Given the description of an element on the screen output the (x, y) to click on. 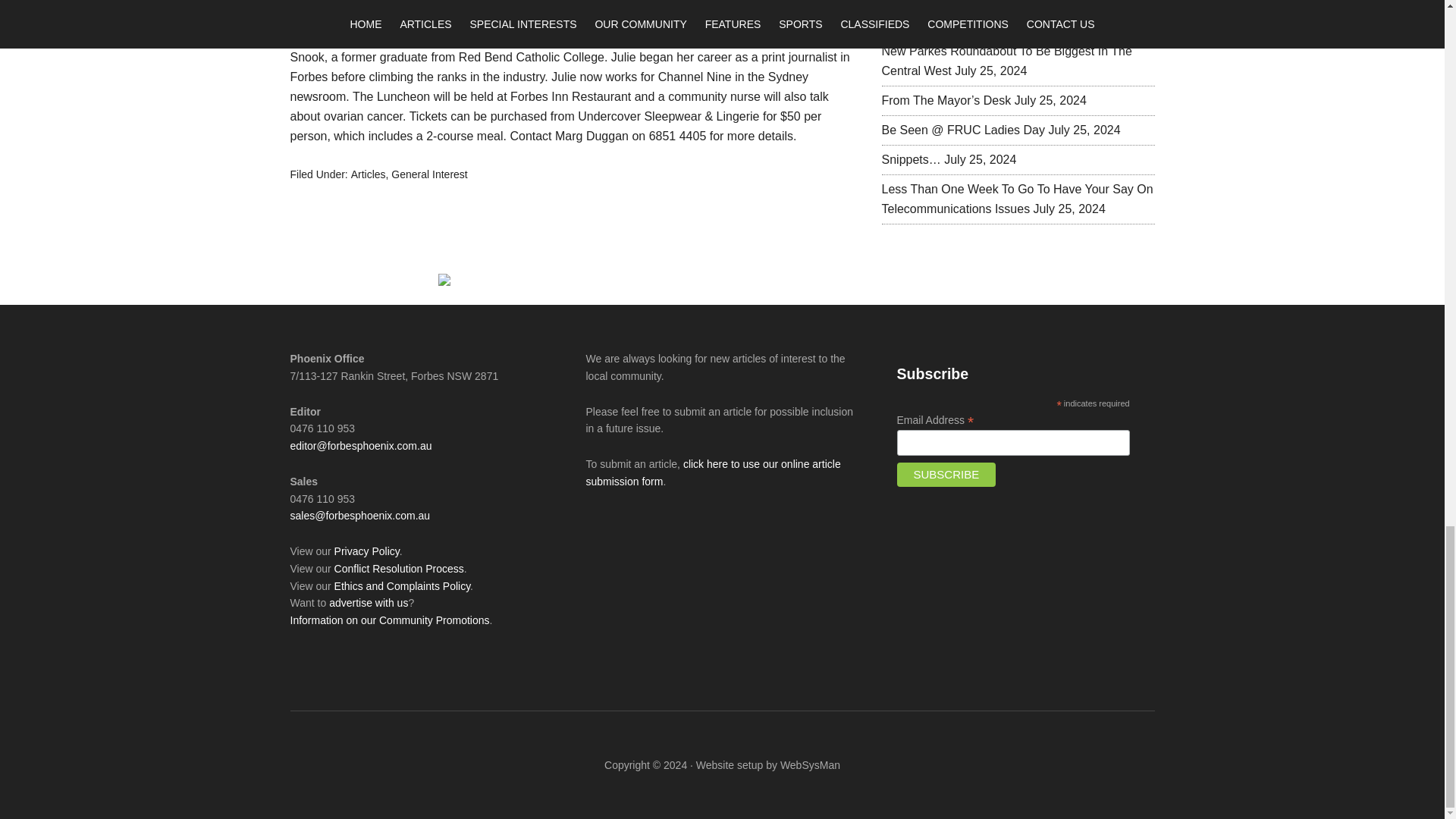
Ethics and Complaints Policy (402, 585)
Subscribe (945, 474)
Conflict Resolution Process (399, 568)
Advertise with Us (368, 603)
Submit an Article (712, 472)
Privacy Policy (366, 551)
